Given the description of an element on the screen output the (x, y) to click on. 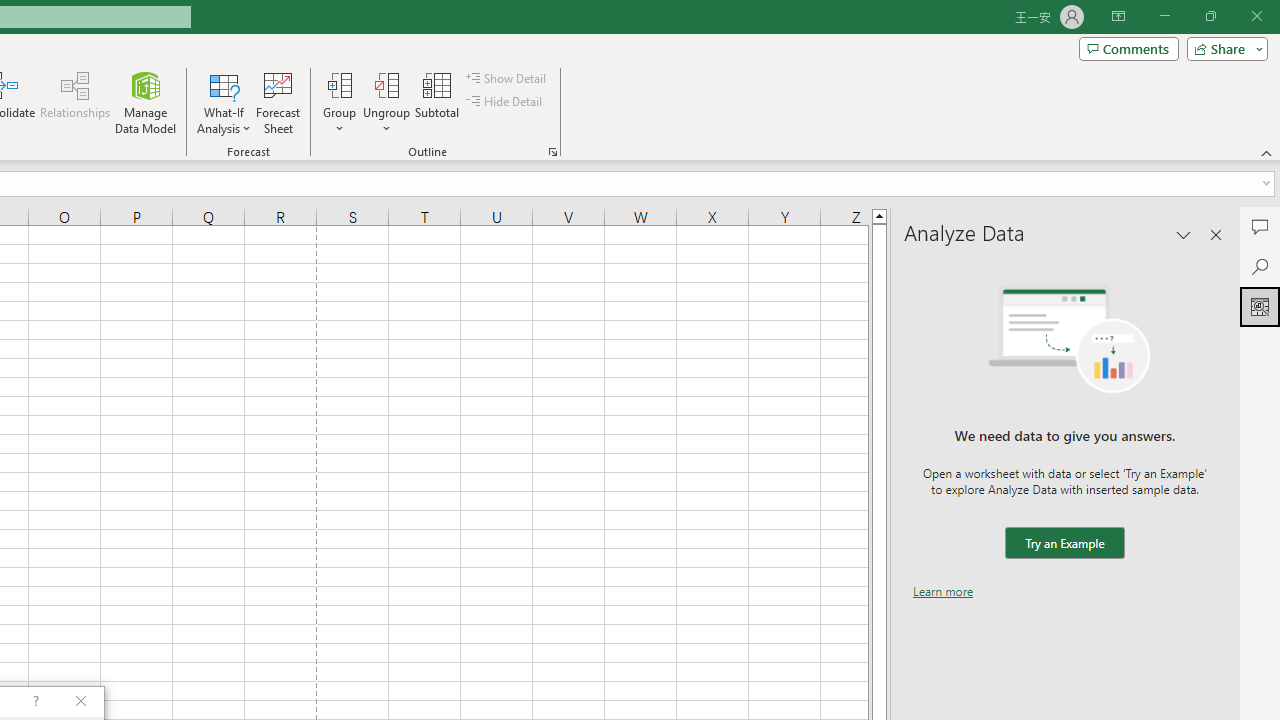
Search (1260, 266)
Relationships (75, 102)
Manage Data Model (145, 102)
Close pane (1215, 234)
Task Pane Options (1183, 234)
Forecast Sheet (278, 102)
Learn more (943, 591)
Analyze Data (1260, 306)
We need data to give you answers. Try an Example (1064, 543)
